Given the description of an element on the screen output the (x, y) to click on. 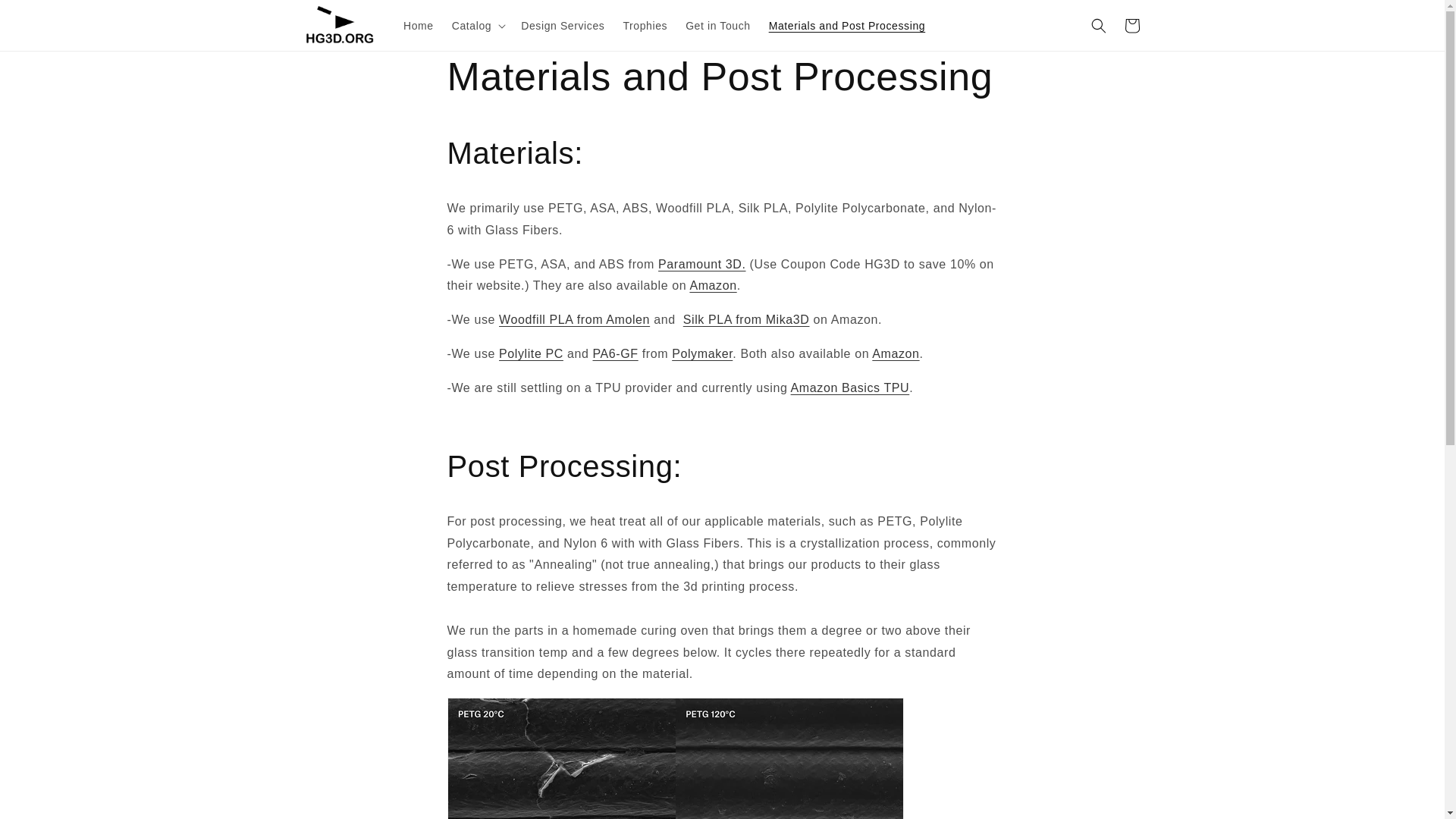
Trophies (644, 24)
Polylite PC (531, 353)
Amazon Basics TPU (850, 387)
Amazon (895, 353)
Paramount 3D. (701, 264)
Design Services (562, 24)
Woodfill PLA from Amolen (574, 318)
Silk PLA from Mika3D (745, 318)
Cart (1131, 25)
PA6-GF (614, 353)
Amazon (712, 285)
Skip to content (45, 17)
Polymaker (701, 353)
Home (418, 24)
Materials and Post Processing (847, 24)
